Given the description of an element on the screen output the (x, y) to click on. 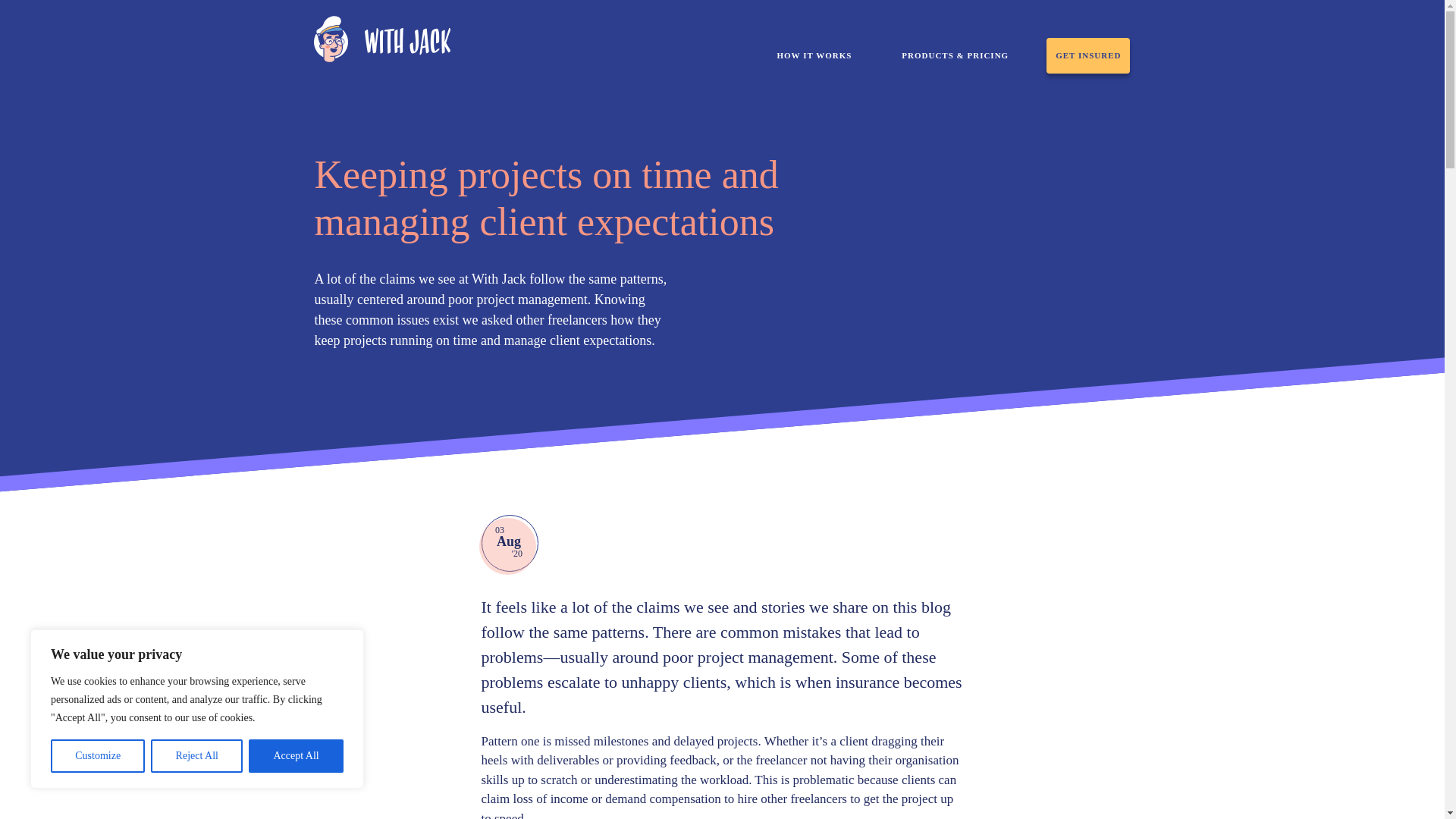
Customize (97, 756)
HOW IT WORKS (813, 55)
Accept All (295, 756)
Reject All (197, 756)
GET INSURED (1087, 55)
